Given the description of an element on the screen output the (x, y) to click on. 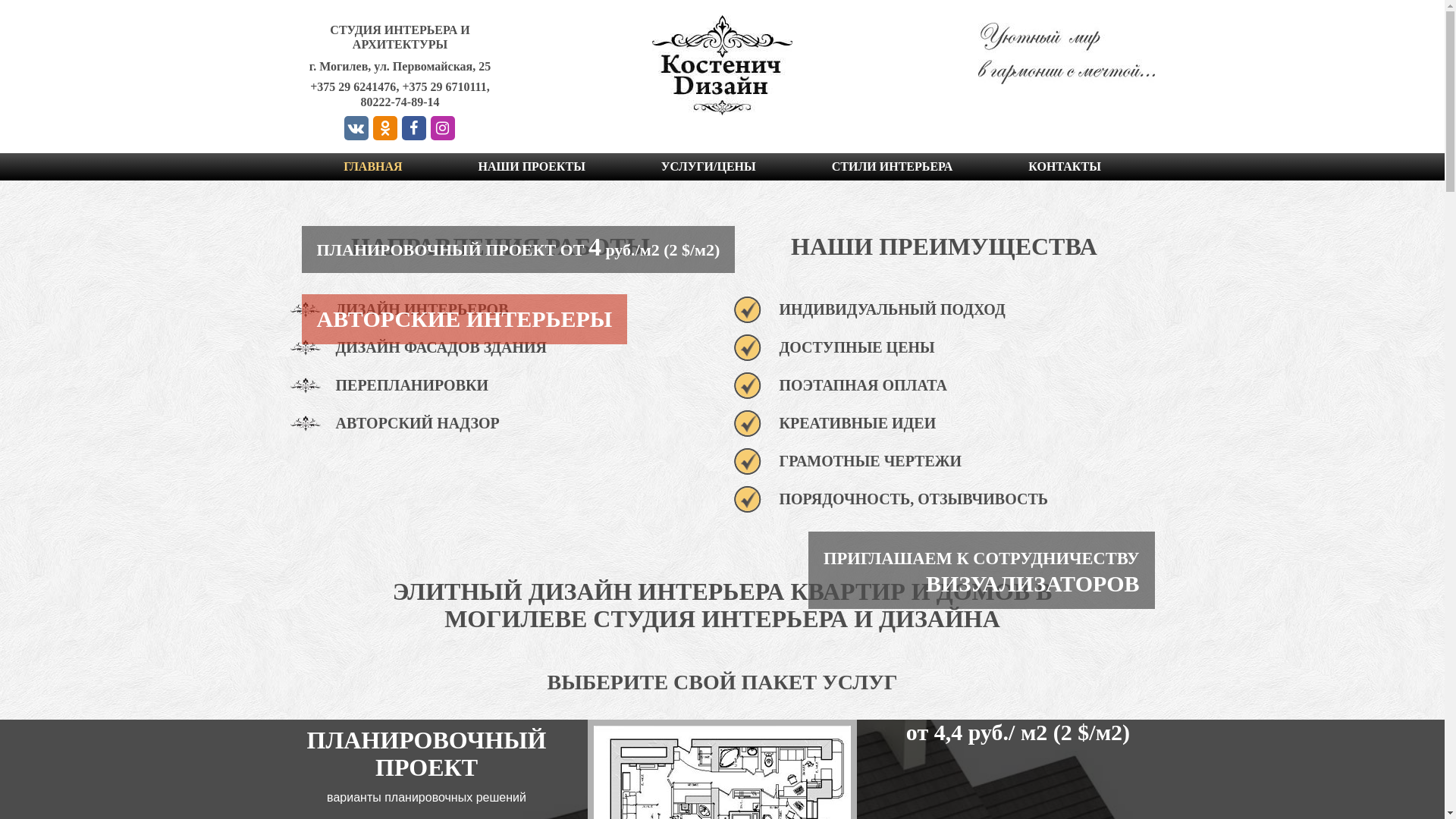
+375 29 6710111 Element type: text (443, 87)
80222-74-89-14 Element type: text (399, 102)
+375 29 6241476 Element type: text (352, 87)
